Given the description of an element on the screen output the (x, y) to click on. 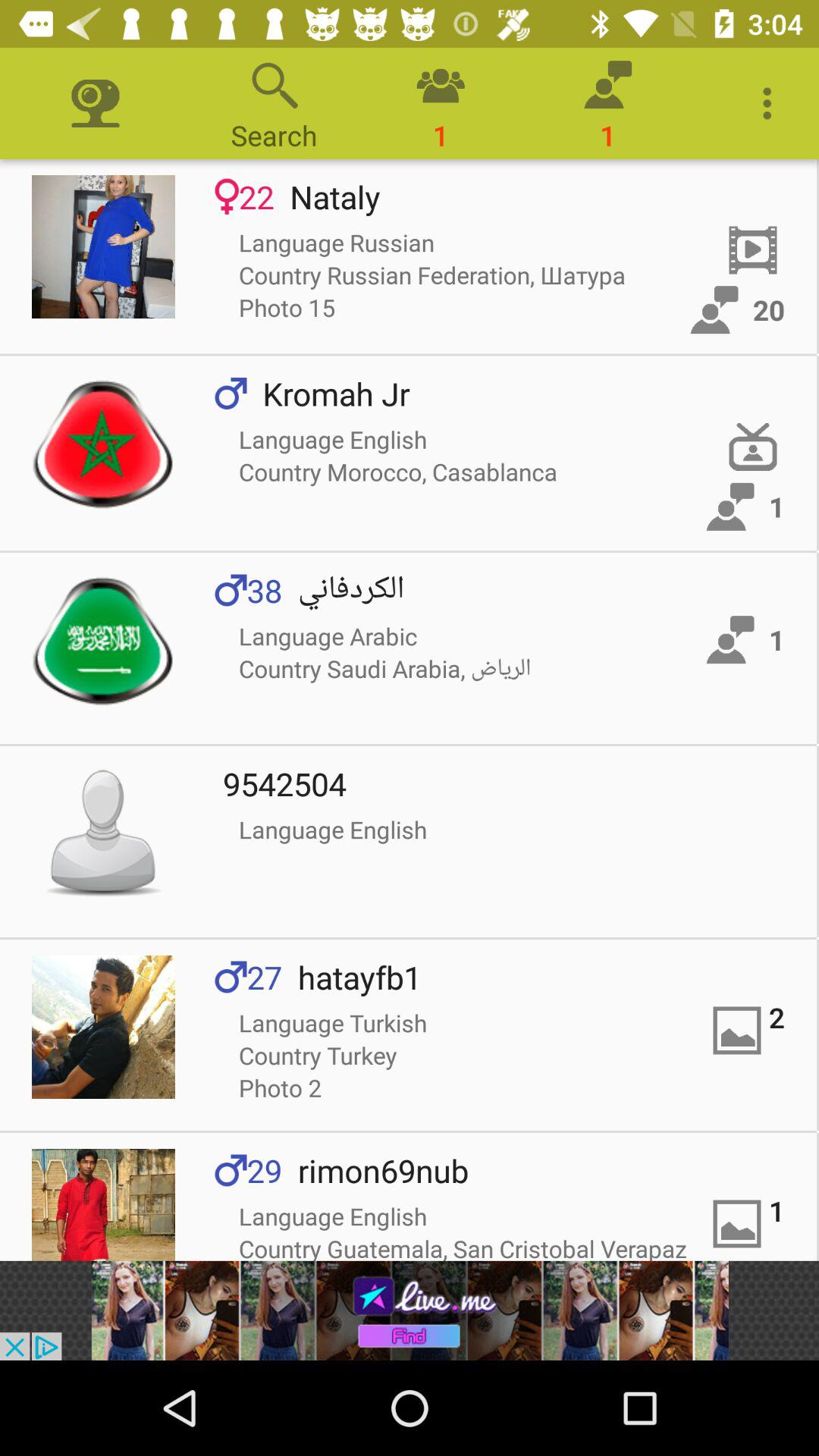
go to profile (103, 1204)
